Given the description of an element on the screen output the (x, y) to click on. 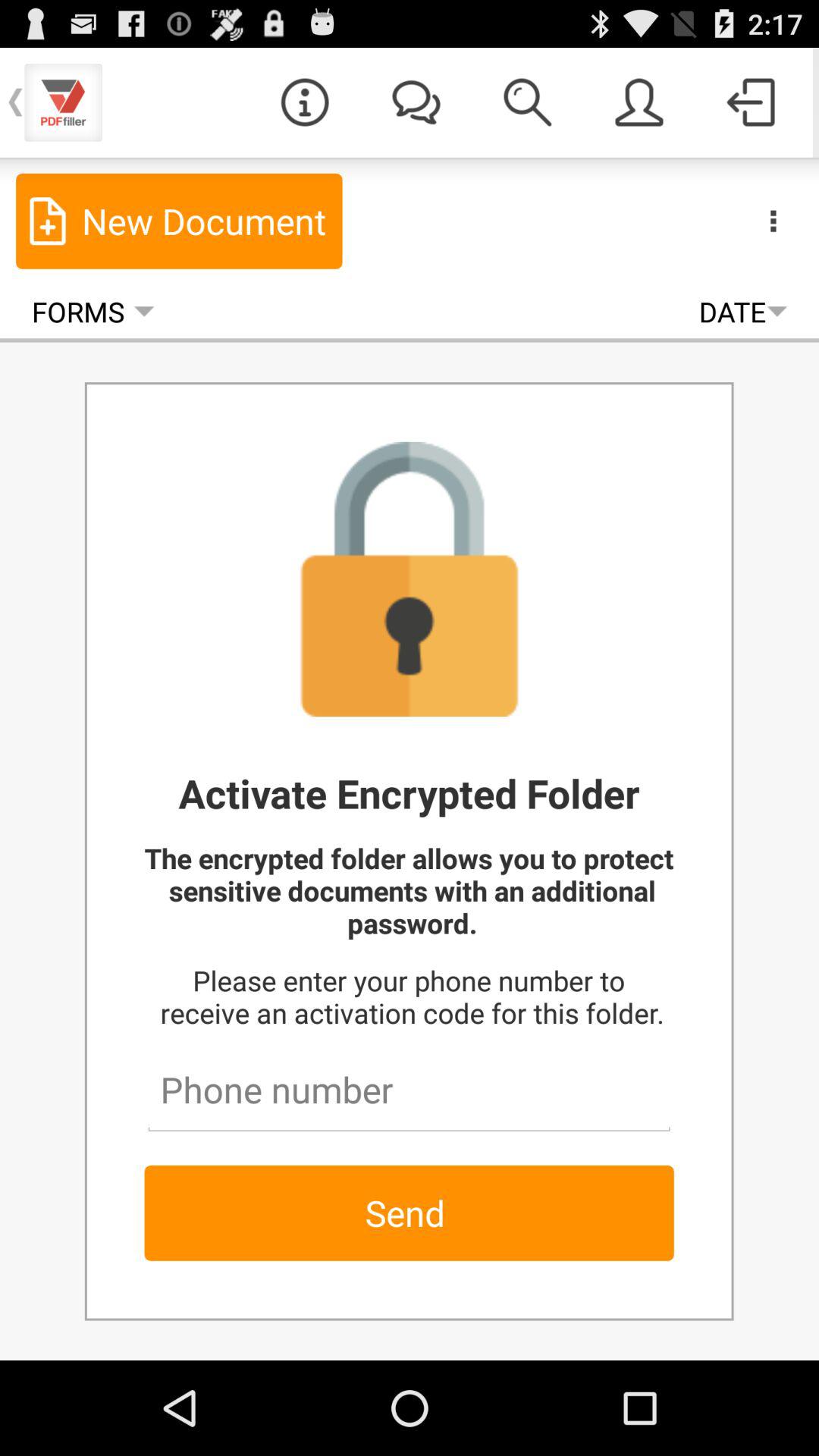
click the icon above date (773, 220)
